Given the description of an element on the screen output the (x, y) to click on. 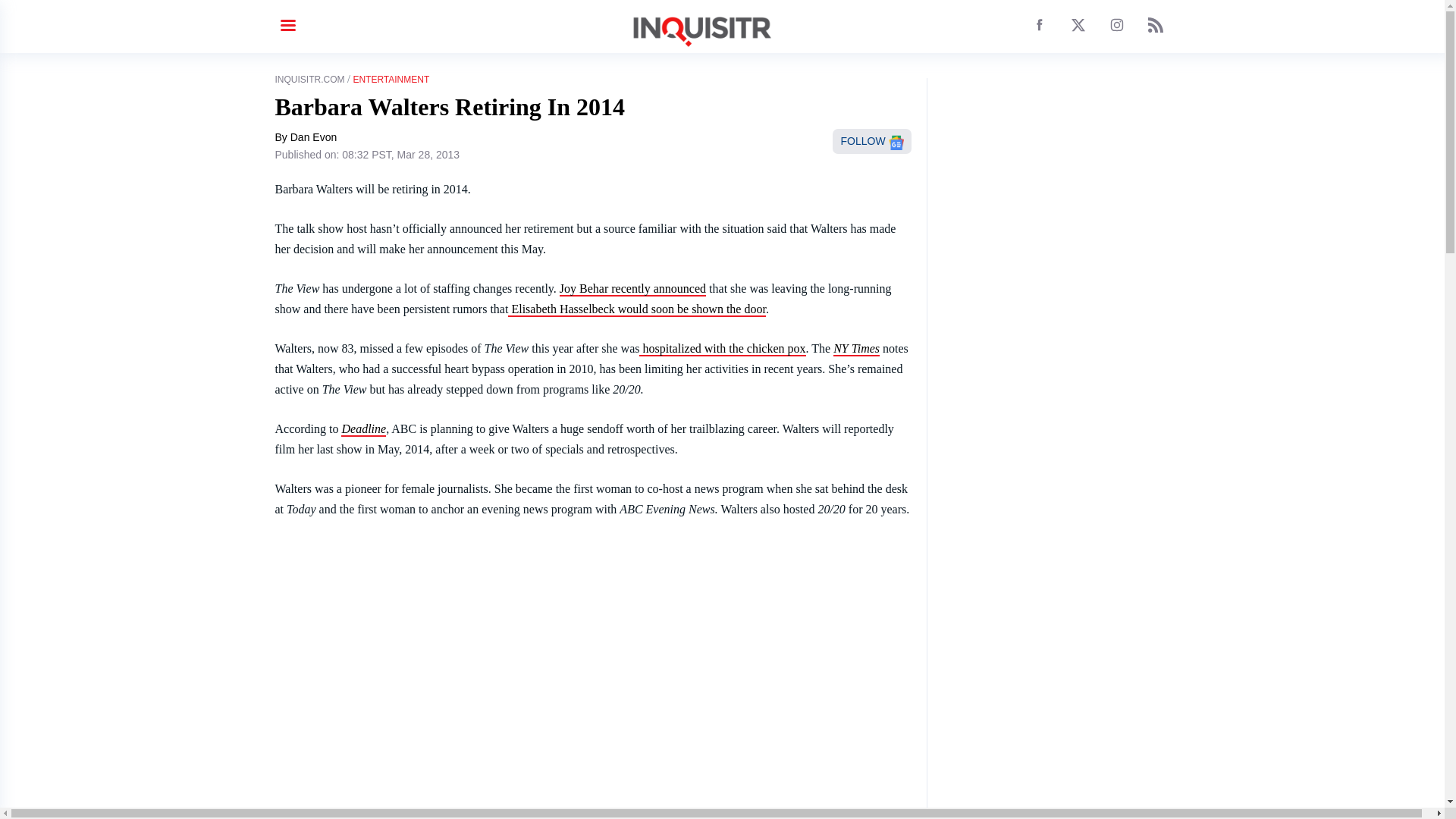
deadline (362, 429)
INQUISITR.COM (309, 79)
ny times (855, 349)
ENTERTAINMENT (390, 79)
Barbara Walters Hospitalized With Chicken Pox (722, 349)
